Given the description of an element on the screen output the (x, y) to click on. 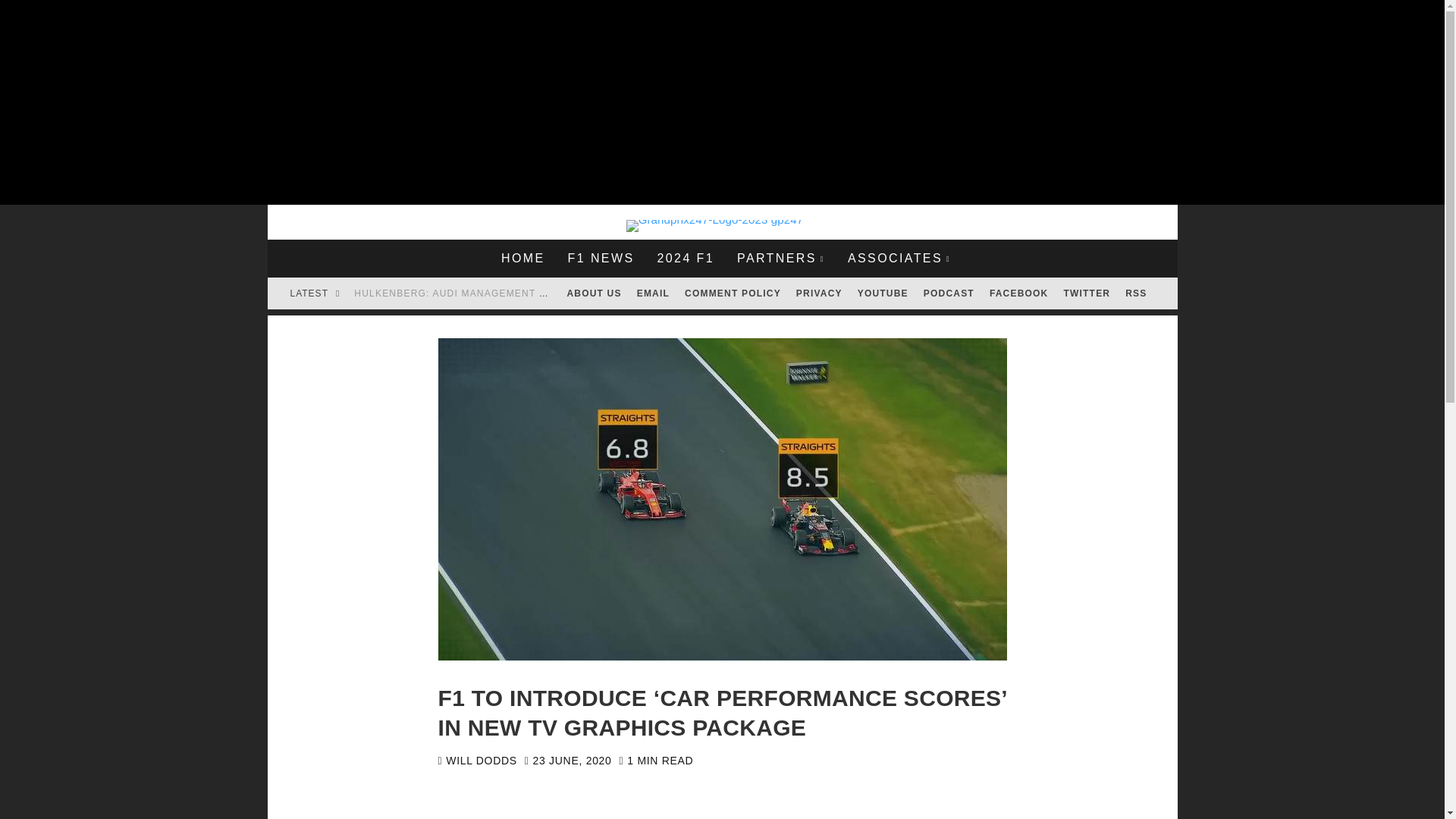
2024 F1 (685, 258)
TWITTER (1086, 293)
COMMENT POLICY (733, 293)
EMAIL (652, 293)
PRIVACY (819, 293)
HOME (522, 258)
PARTNERS (780, 258)
ASSOCIATES (898, 258)
FACEBOOK (1019, 293)
PODCAST (948, 293)
HULKENBERG: AUDI MANAGEMENT CHANGES A BIT OF A SHOCK (520, 293)
ABOUT US (593, 293)
Hulkenberg: Audi management changes a bit of a shock (520, 293)
Twitter GrandPrix247 (1086, 293)
F1 NEWS (601, 258)
